Given the description of an element on the screen output the (x, y) to click on. 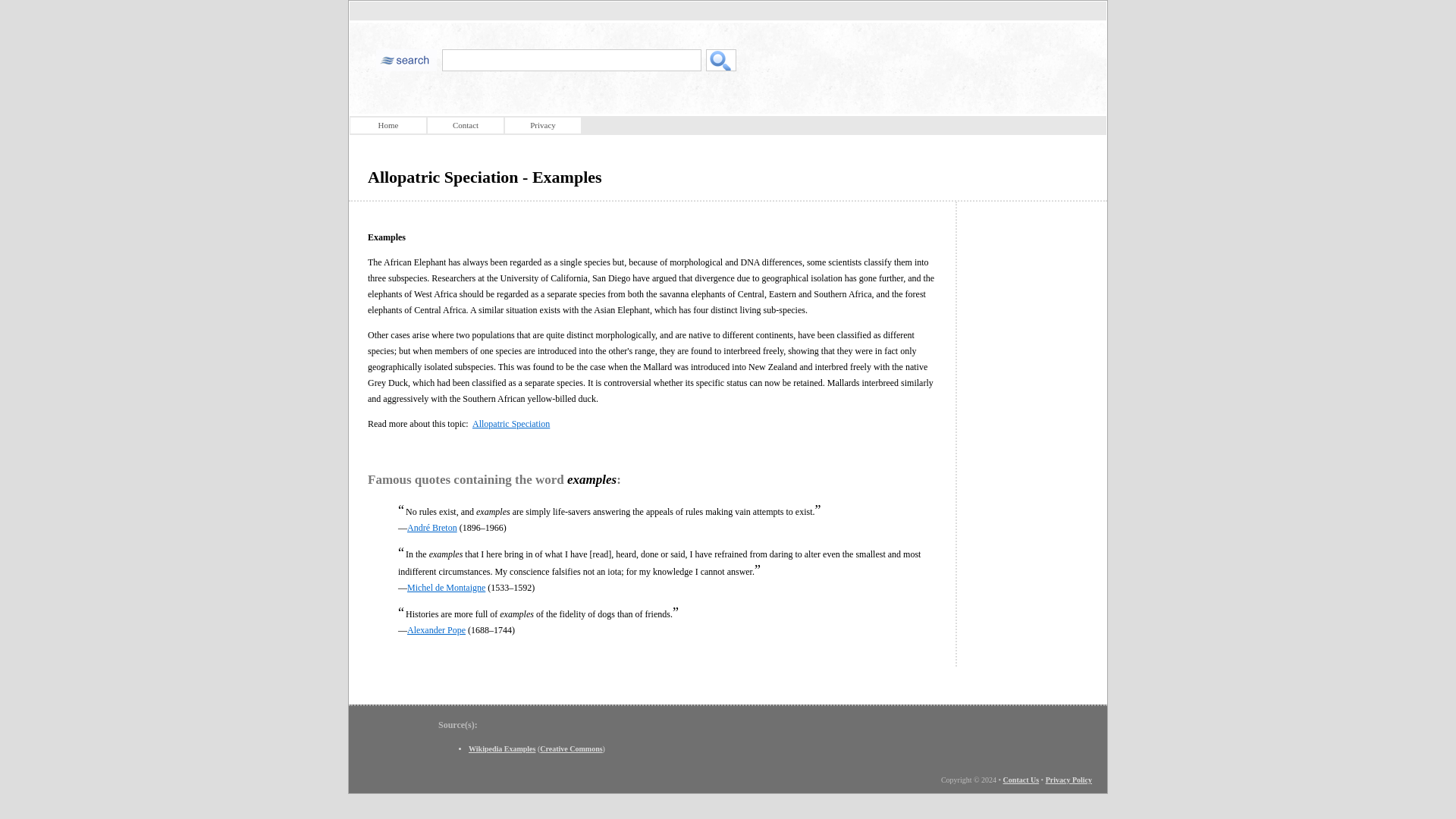
Michel de Montaigne (445, 587)
Alexander Pope (436, 629)
Home (388, 125)
Who is Michel de Montaigne? (445, 587)
Who is Alexander Pope? (436, 629)
Creative Commons (571, 748)
Privacy Policy (1068, 779)
Privacy (542, 125)
Contact Us (1021, 779)
Contact (465, 125)
Allopatric Speciation (510, 423)
Wikipedia Examples (501, 748)
